Given the description of an element on the screen output the (x, y) to click on. 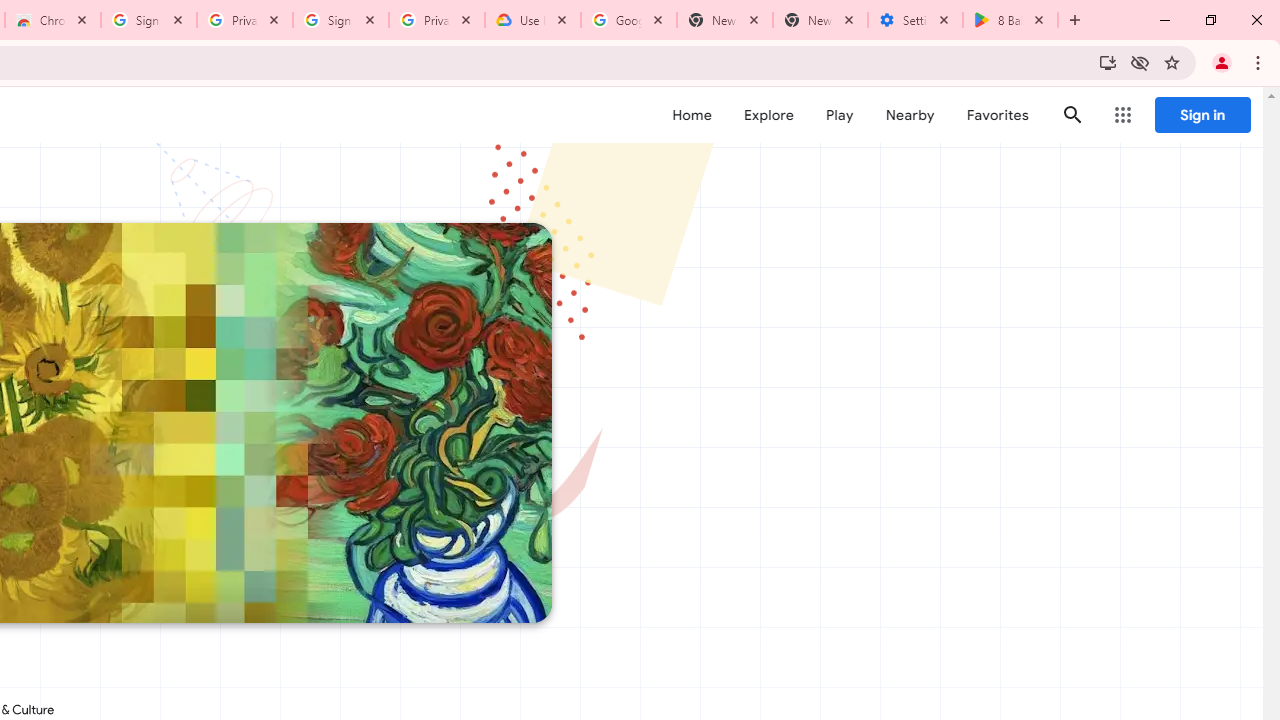
Sign in - Google Accounts (341, 20)
Install Google Arts & Culture (1107, 62)
Nearby (910, 115)
Sign in - Google Accounts (149, 20)
Play (840, 115)
Settings - System (914, 20)
8 Ball Pool - Apps on Google Play (1010, 20)
